Given the description of an element on the screen output the (x, y) to click on. 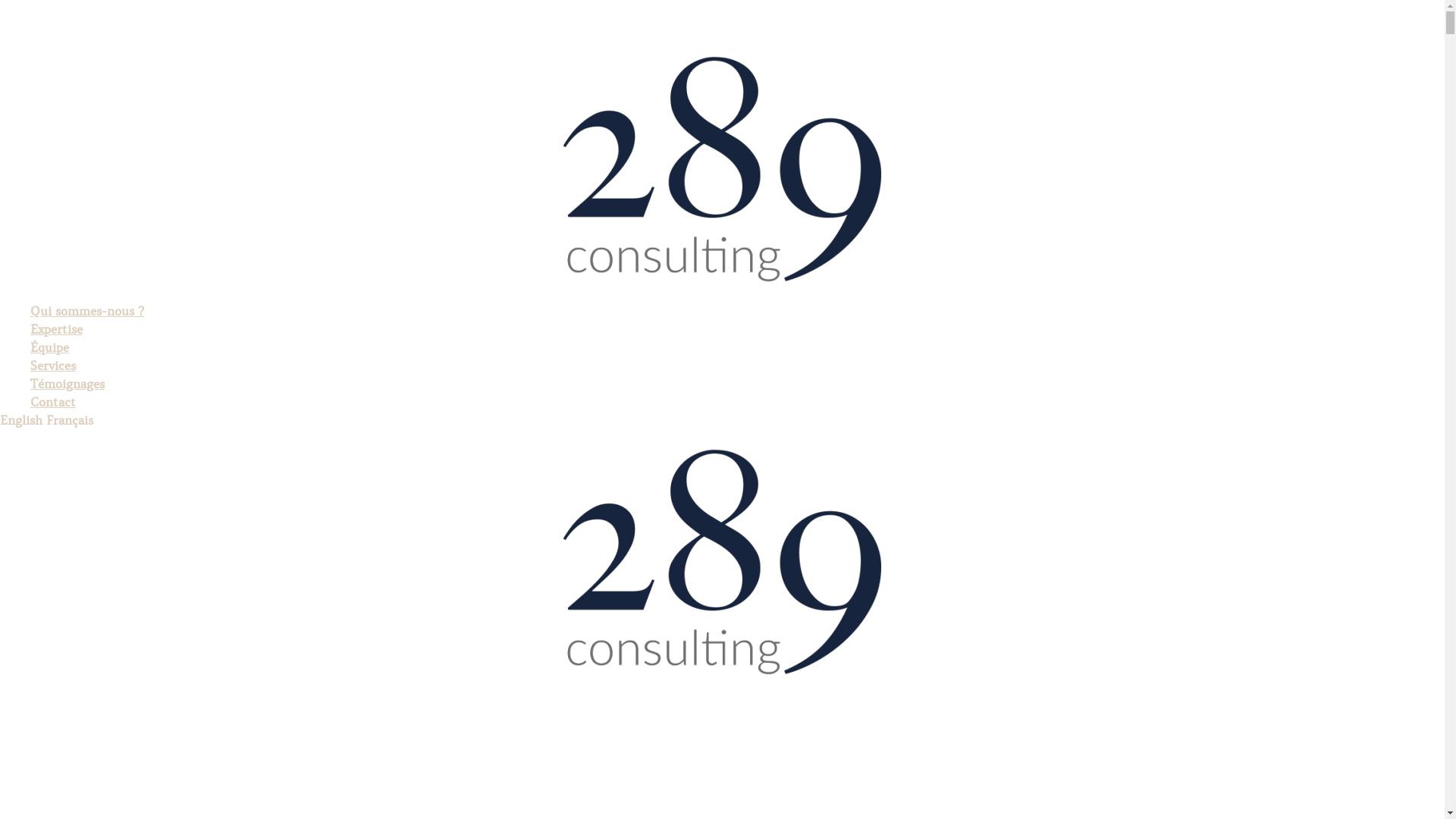
289-consulting Element type: hover (722, 561)
289-consulting Element type: hover (722, 168)
Aller au contenu Element type: text (0, 0)
English Element type: text (21, 419)
Expertise Element type: text (56, 328)
Contact Element type: text (52, 401)
Services Element type: text (52, 365)
Qui sommes-nous ? Element type: text (87, 310)
